Given the description of an element on the screen output the (x, y) to click on. 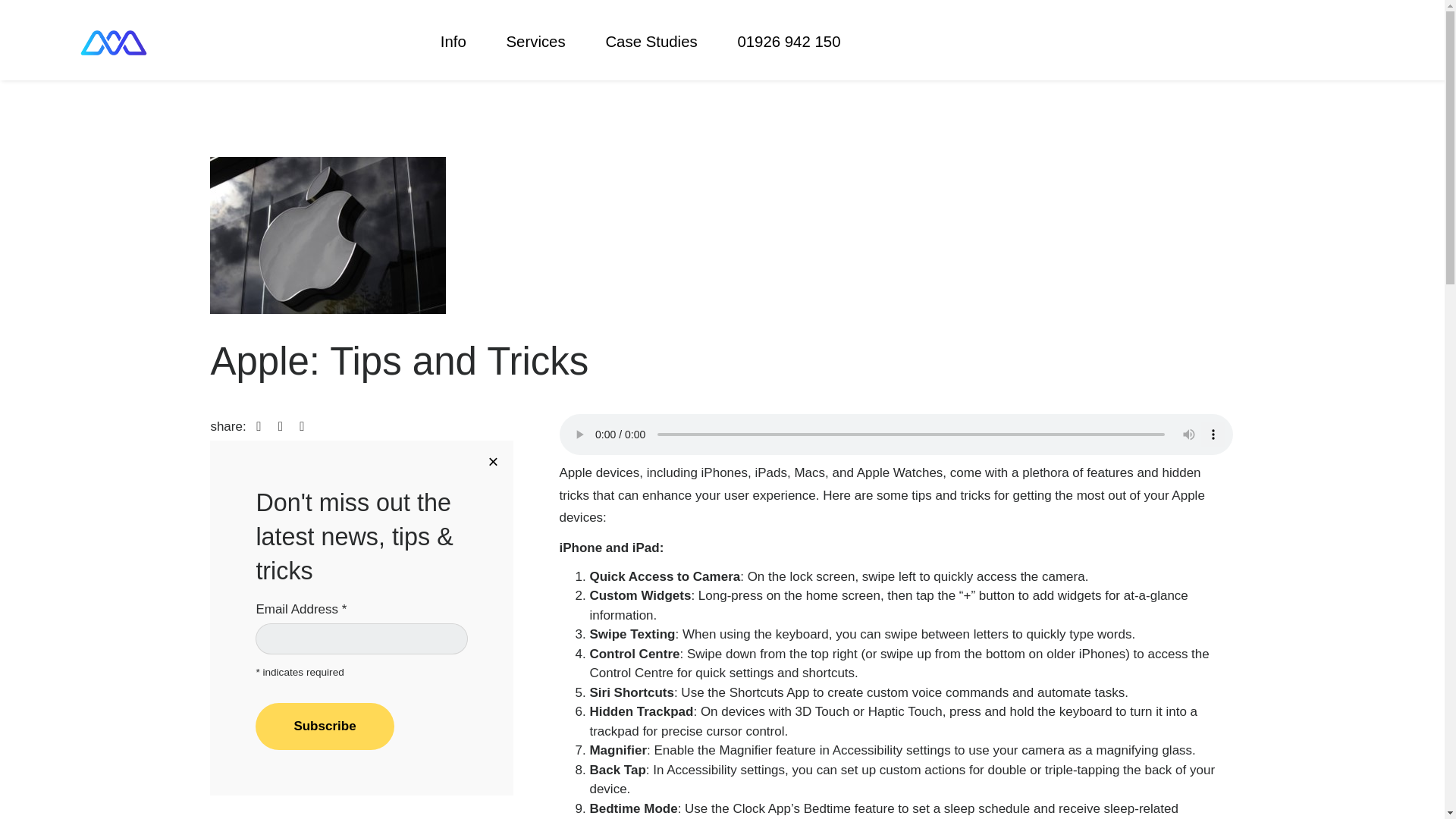
Subscribe (324, 726)
Case Studies (660, 41)
Services (544, 41)
01926 942 150 (788, 41)
Info (463, 41)
Subscribe (324, 726)
